Given the description of an element on the screen output the (x, y) to click on. 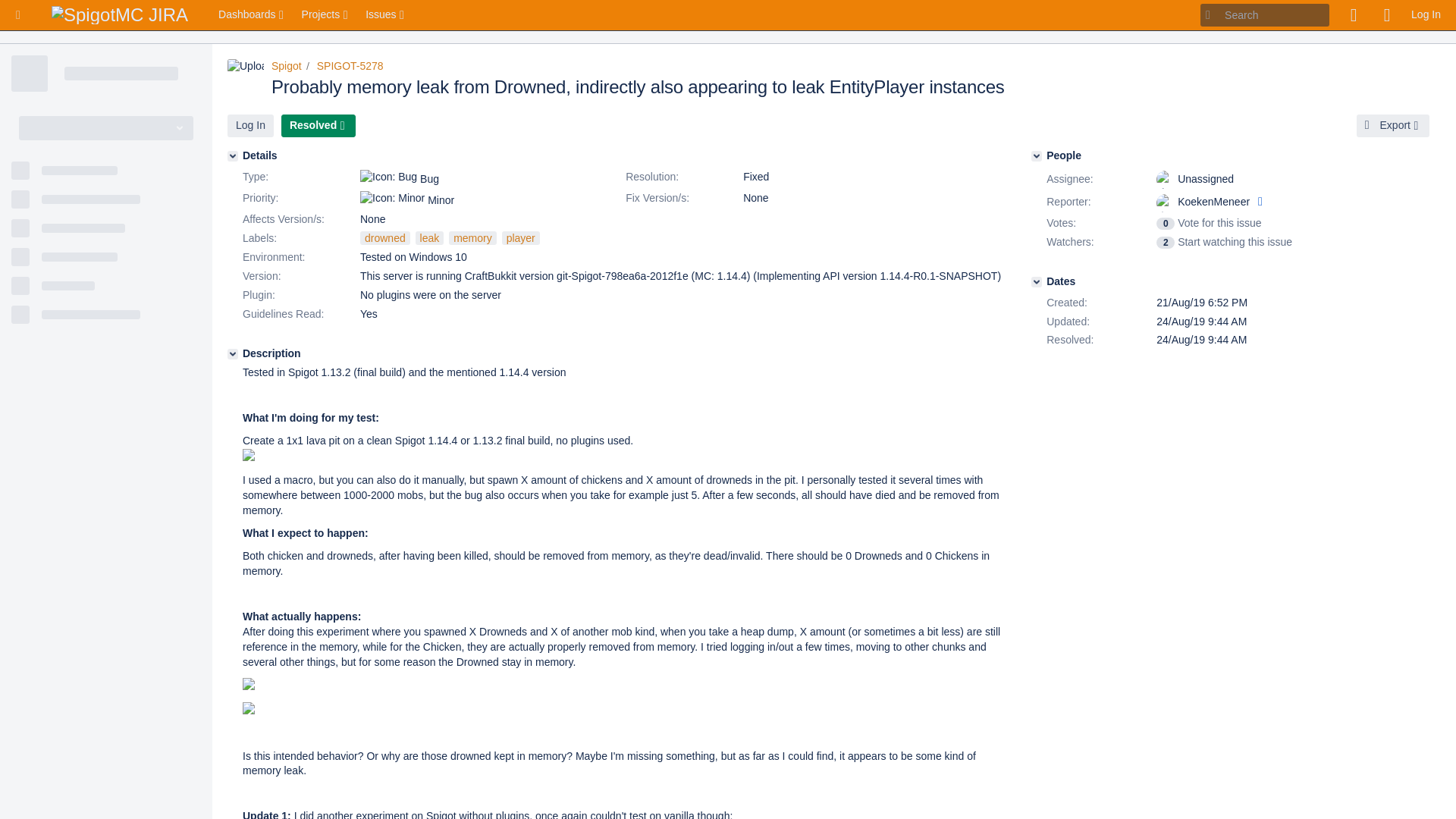
Type (299, 177)
Help (1386, 15)
Log In (250, 125)
leak (429, 237)
Spigot (285, 65)
Give feedback to Atlassian (1353, 15)
Priority (299, 198)
memory (472, 237)
Log In (1425, 15)
Projects (326, 15)
Resolved (318, 125)
View recent projects and browse a list of projects (326, 15)
drowned (384, 237)
SPIGOT-5278 (350, 65)
